Given the description of an element on the screen output the (x, y) to click on. 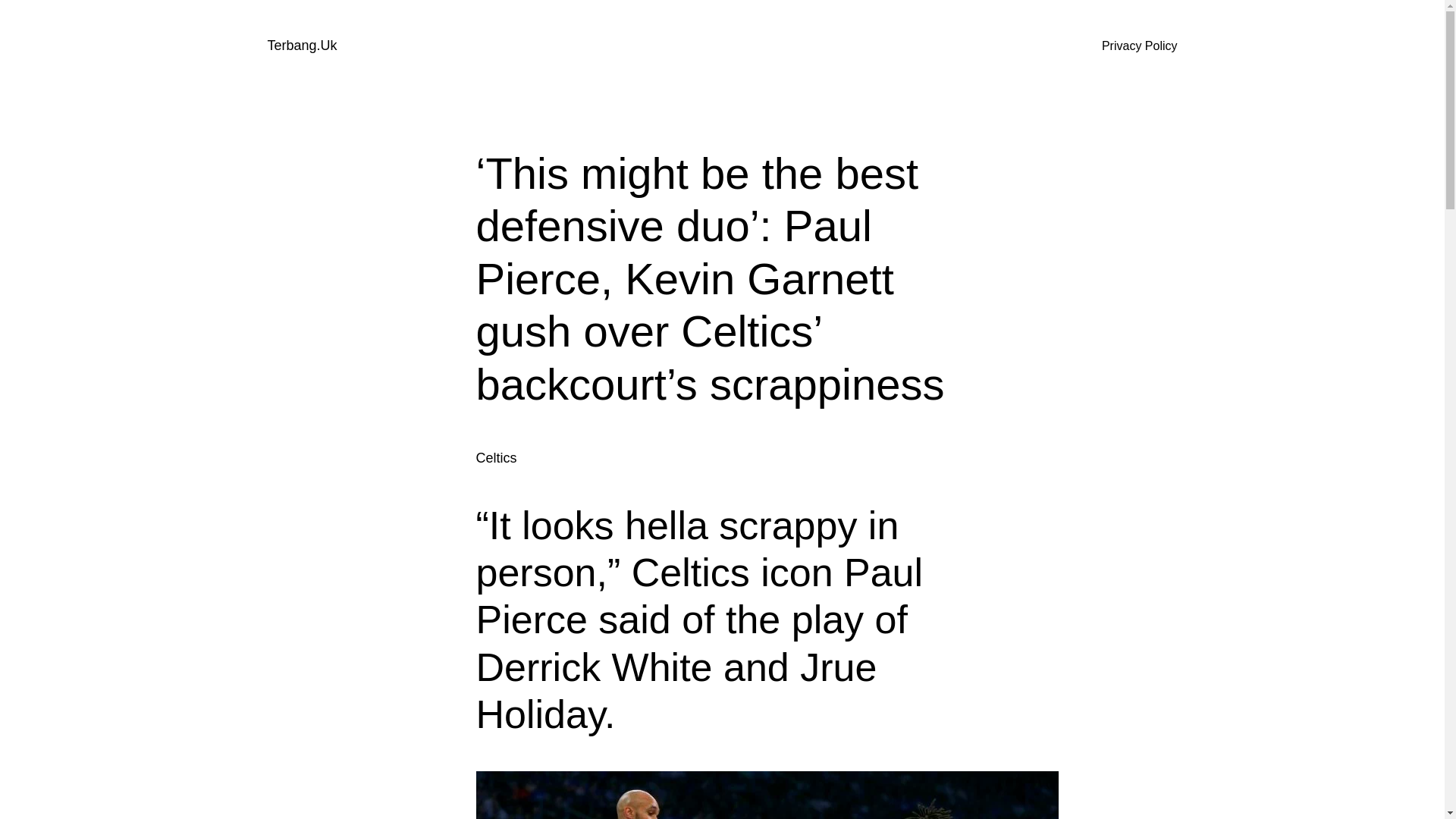
Terbang.Uk (301, 45)
Privacy Policy (1139, 46)
